Given the description of an element on the screen output the (x, y) to click on. 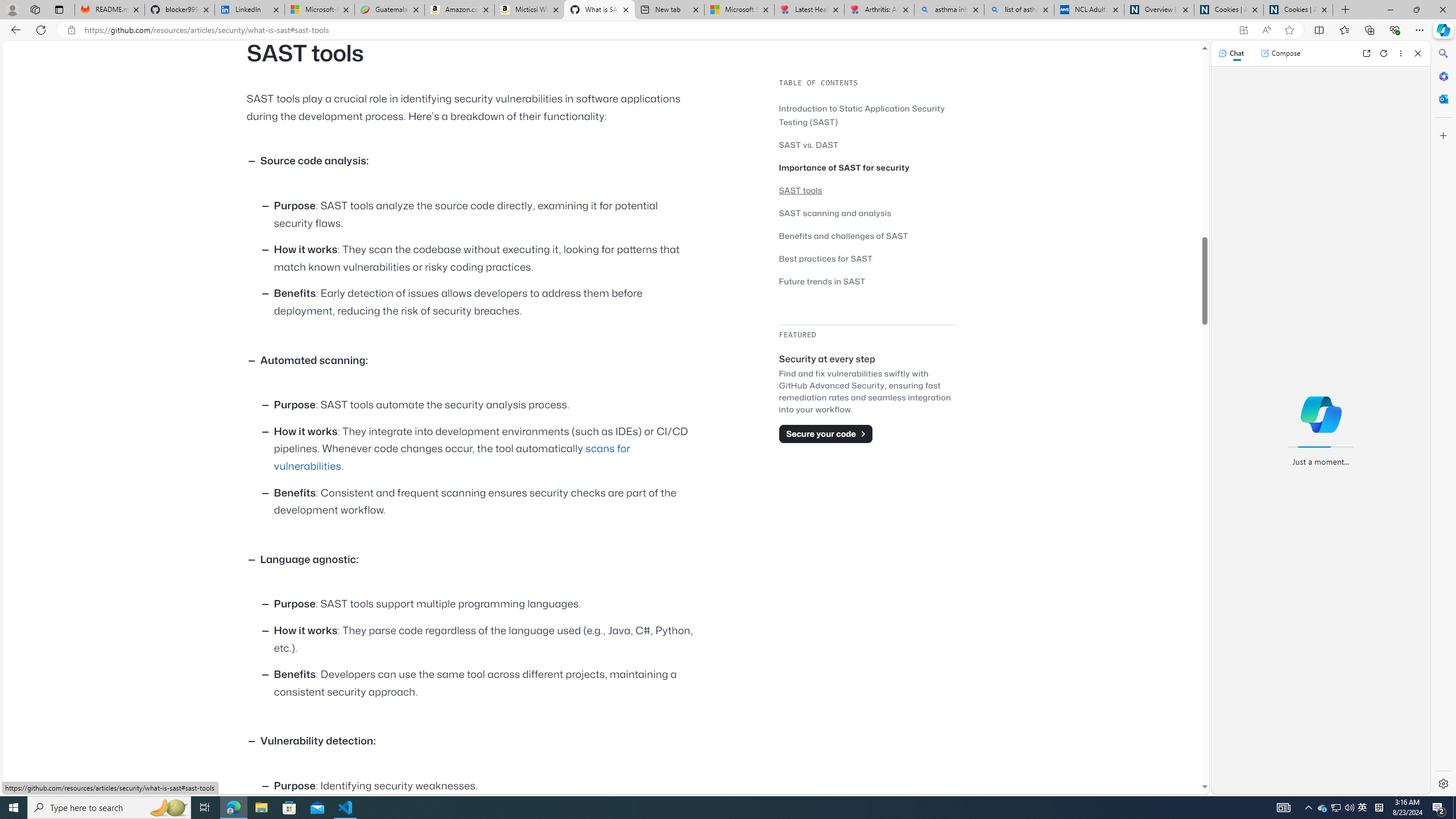
Importance of SAST for security (867, 167)
scans for vulnerabilities (451, 457)
